Given the description of an element on the screen output the (x, y) to click on. 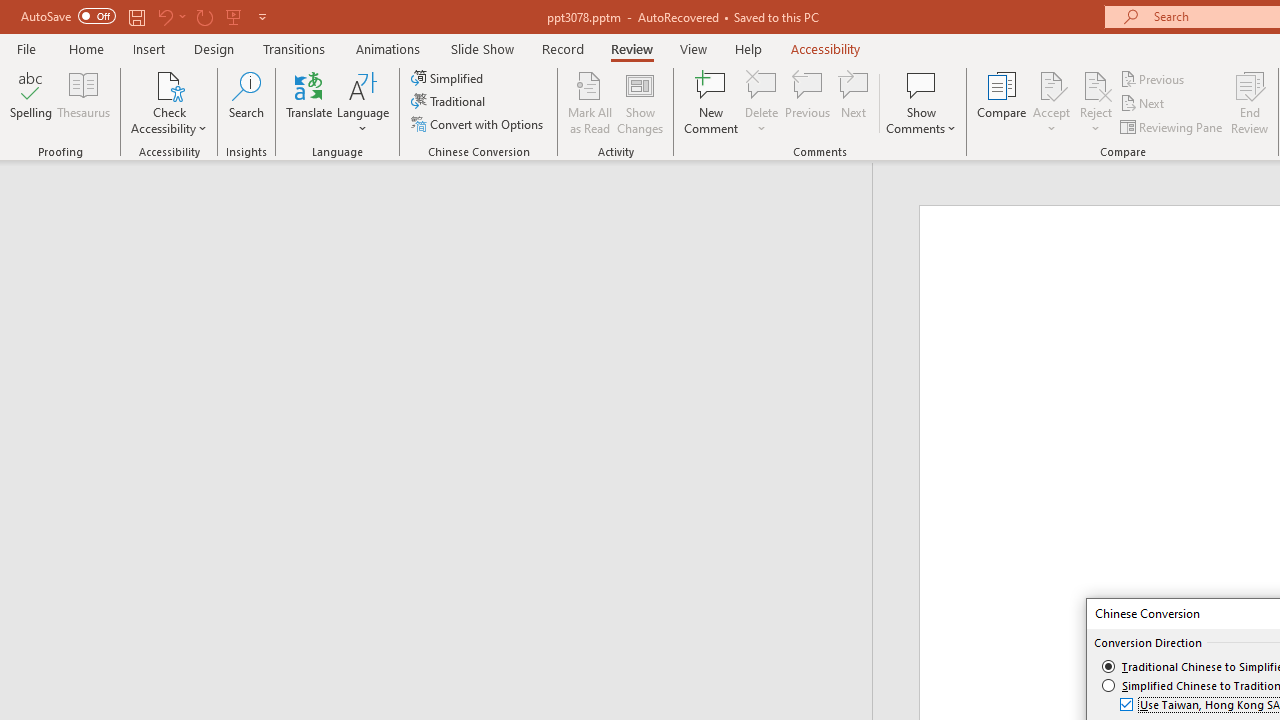
Delete (762, 84)
Accept (1051, 102)
